Given the description of an element on the screen output the (x, y) to click on. 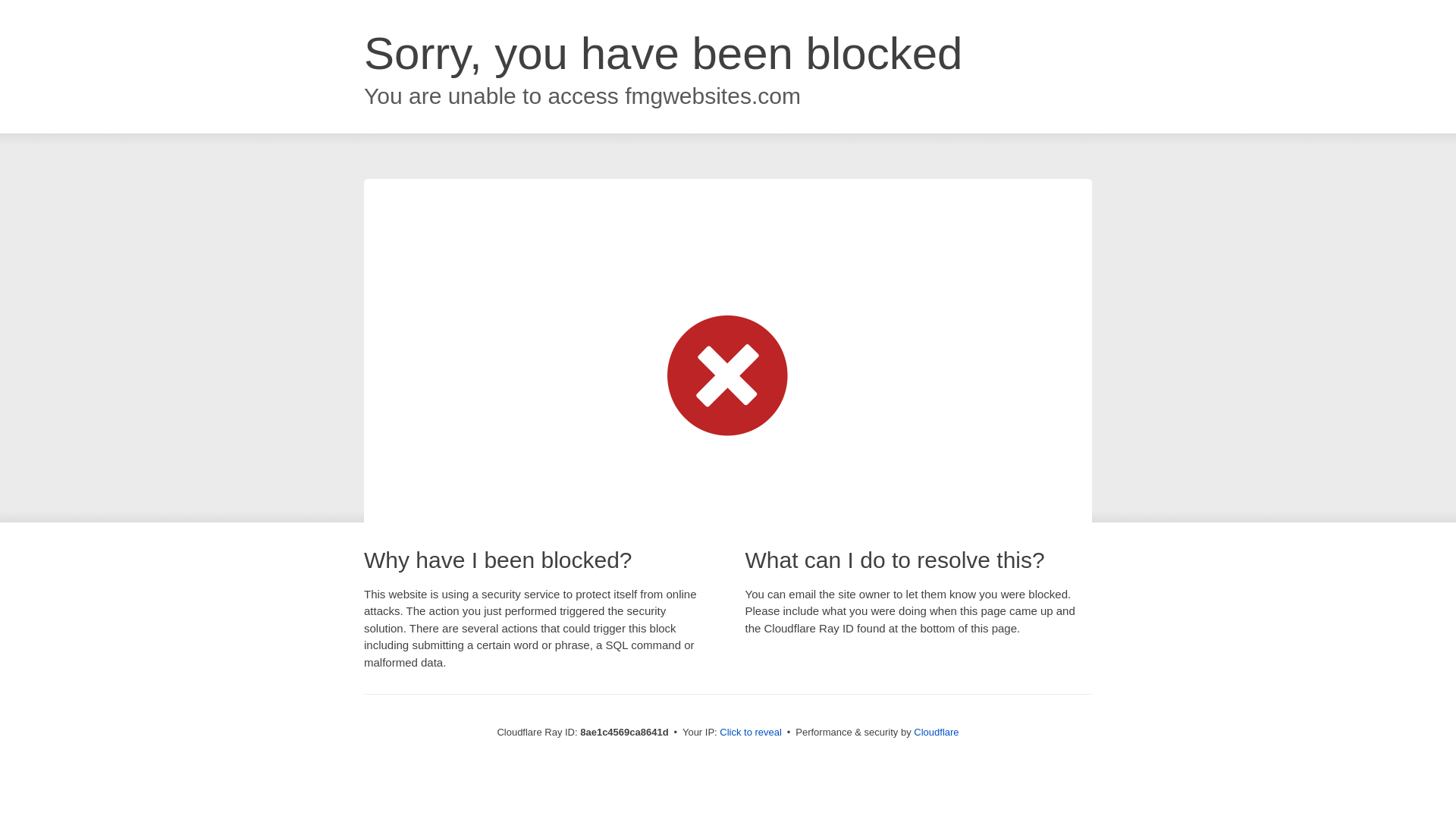
Cloudflare (936, 731)
Click to reveal (750, 732)
